Given the description of an element on the screen output the (x, y) to click on. 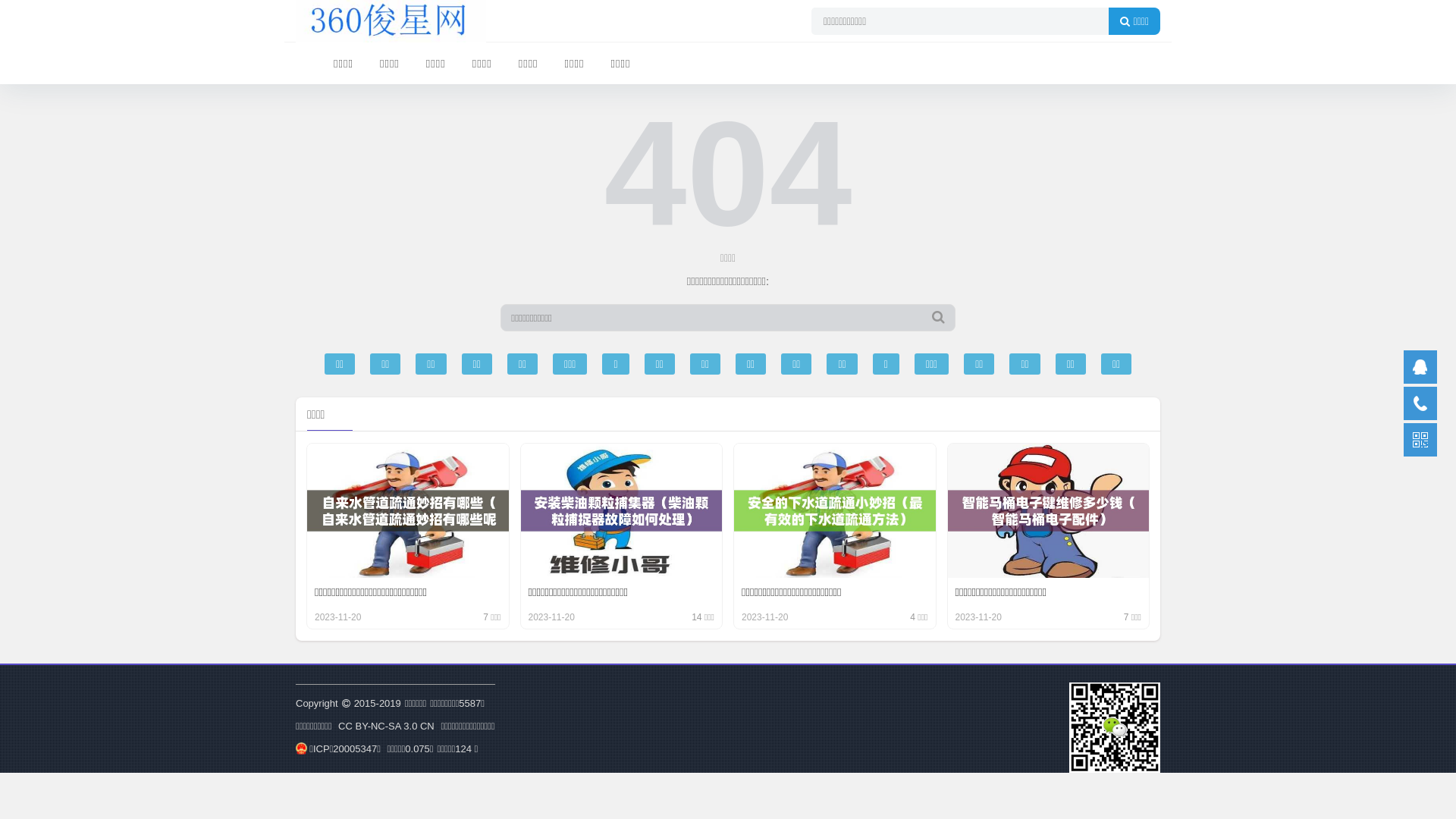
CC BY-NC-SA 3.0 CN Element type: text (386, 725)
